Given the description of an element on the screen output the (x, y) to click on. 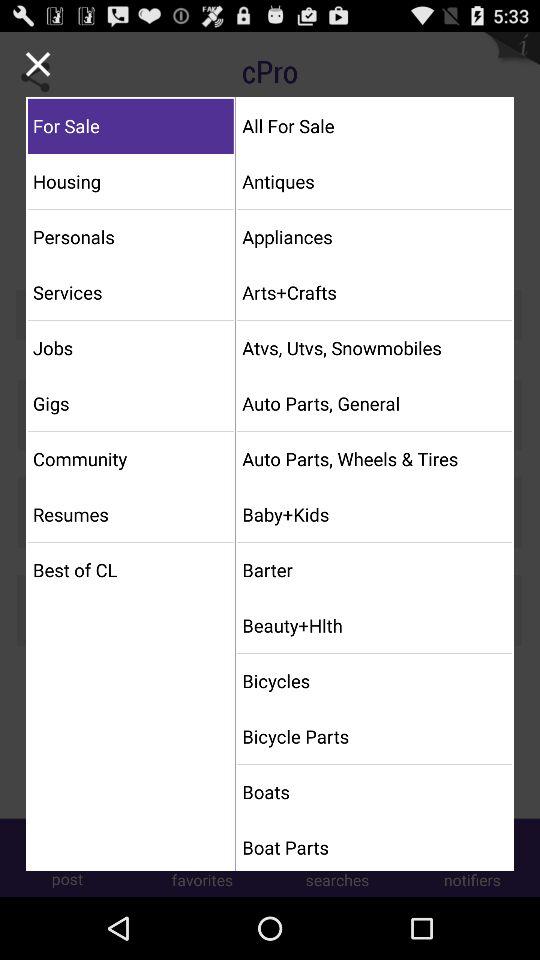
select boat parts (374, 847)
